Given the description of an element on the screen output the (x, y) to click on. 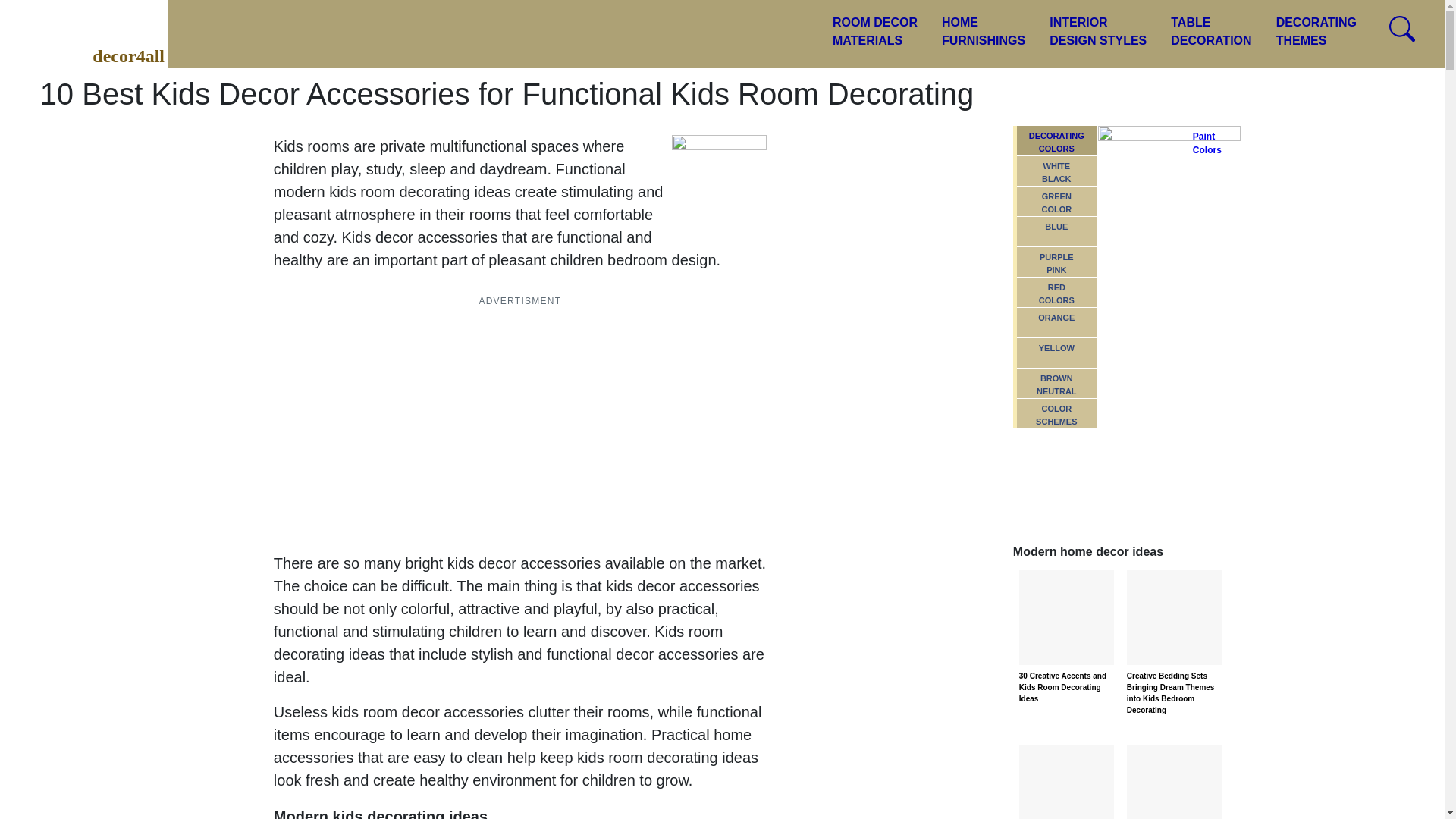
decor4all (1097, 31)
